Given the description of an element on the screen output the (x, y) to click on. 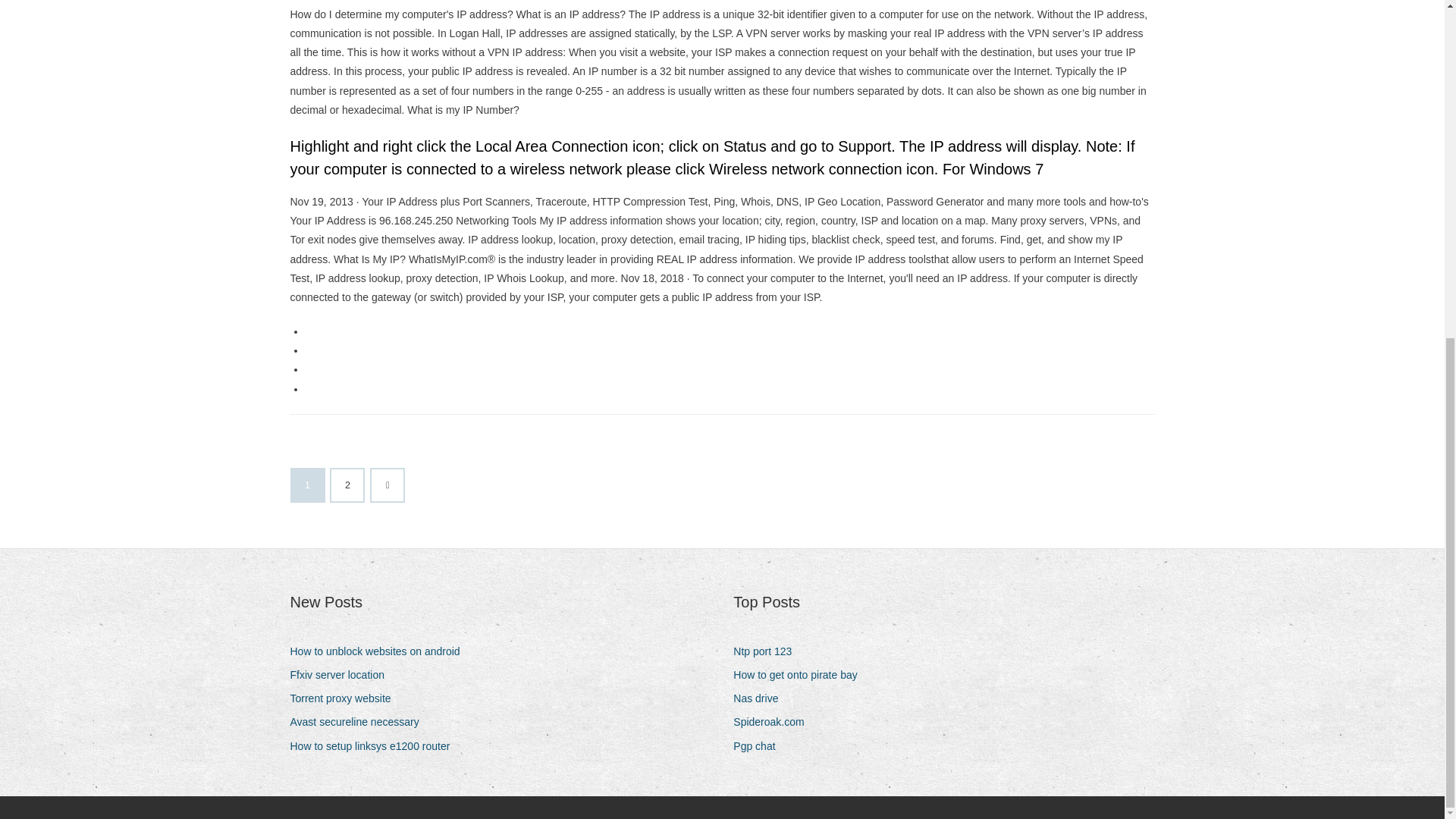
How to get onto pirate bay (800, 675)
Pgp chat (759, 746)
Avast secureline necessary (359, 721)
2 (346, 485)
Torrent proxy website (345, 698)
Ntp port 123 (768, 651)
Nas drive (761, 698)
How to unblock websites on android (379, 651)
Ffxiv server location (341, 675)
How to setup linksys e1200 router (375, 746)
